Given the description of an element on the screen output the (x, y) to click on. 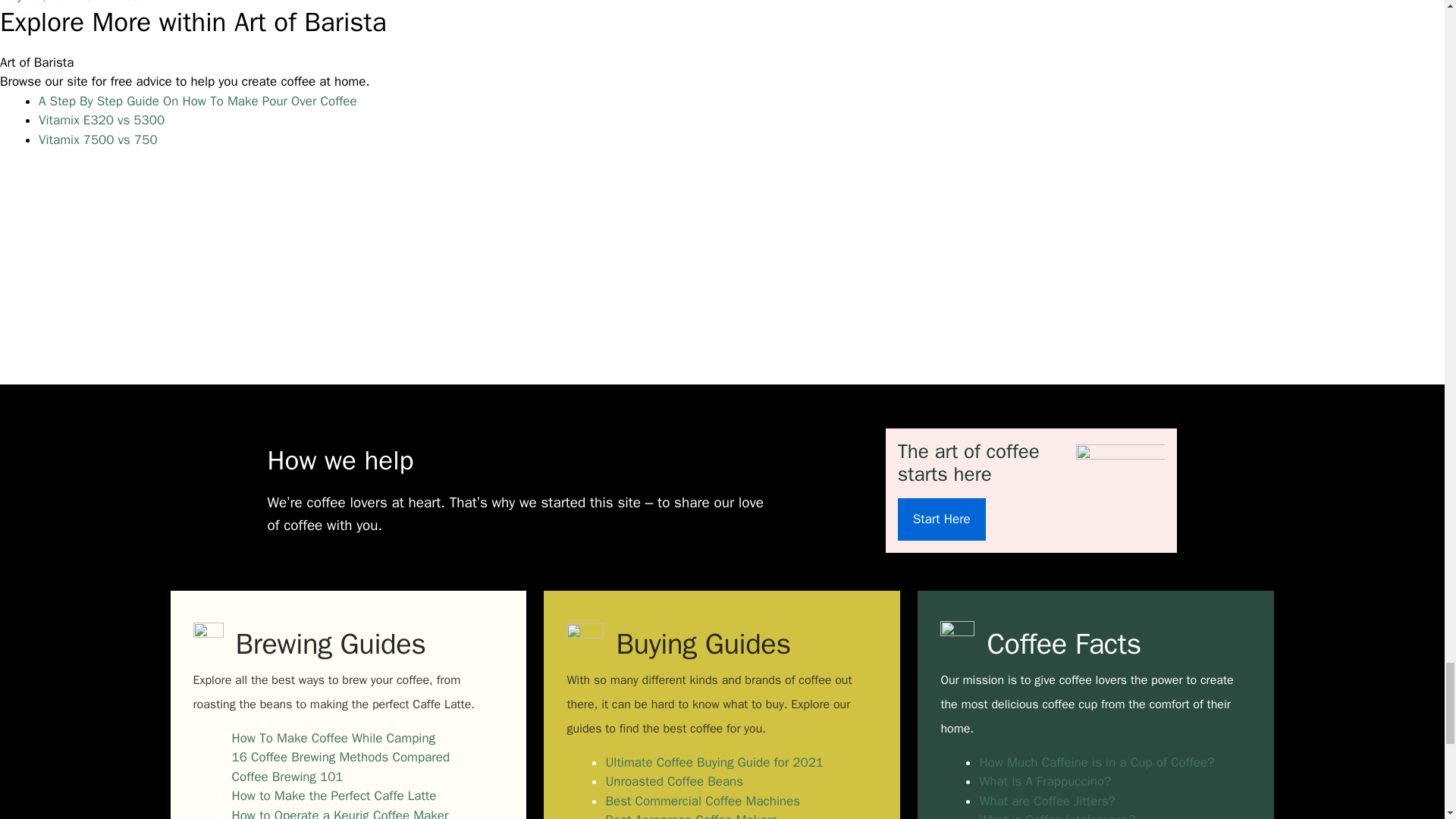
Start Here (941, 518)
A Step By Step Guide On How To Make Pour Over Coffee (197, 100)
Vitamix E320 vs 5300 (101, 119)
Vitamix 7500 vs 750 (98, 139)
